Given the description of an element on the screen output the (x, y) to click on. 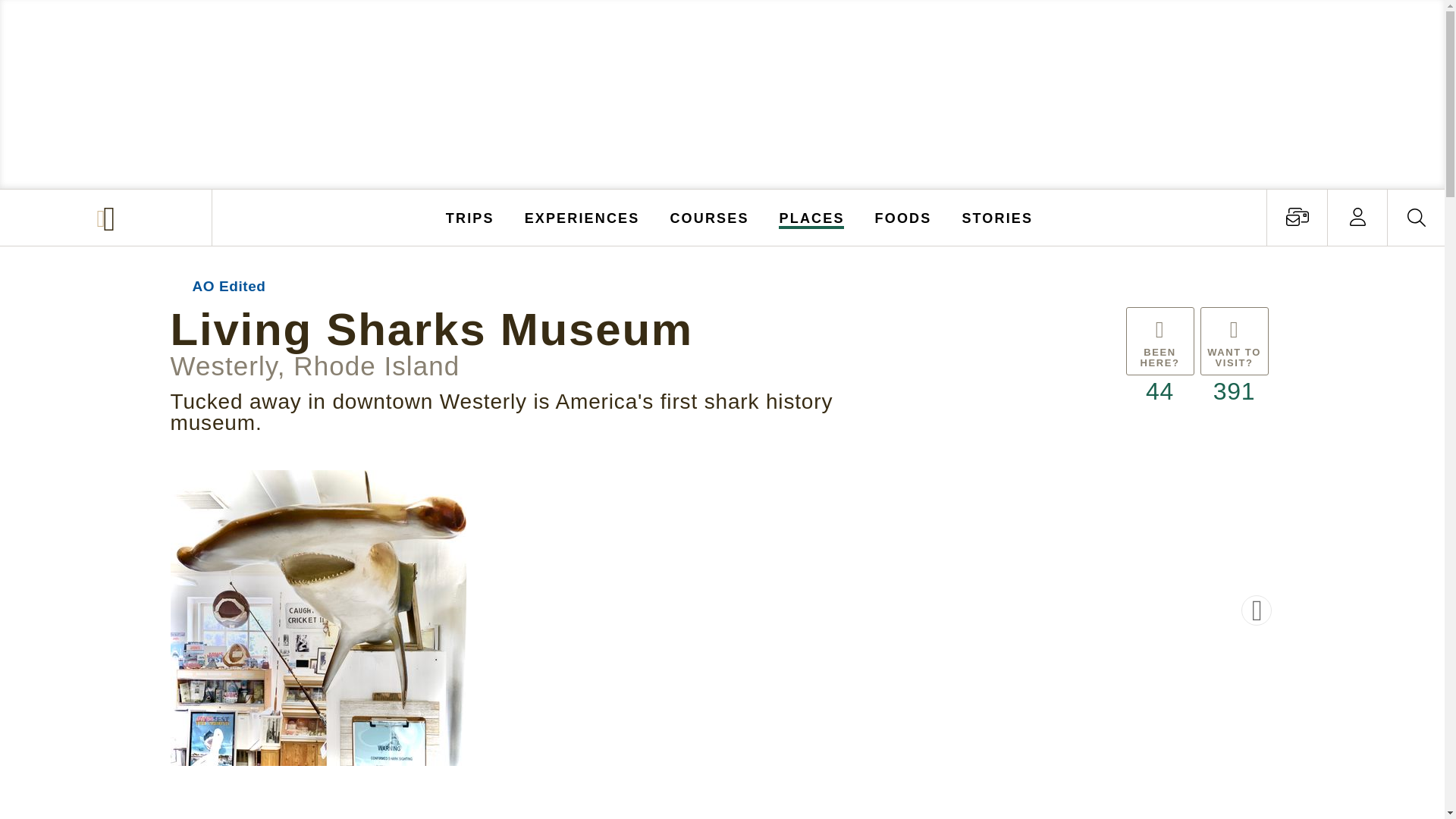
PLACES (812, 217)
TRIPS (469, 217)
COURSES (707, 217)
EXPERIENCES (582, 217)
